Given the description of an element on the screen output the (x, y) to click on. 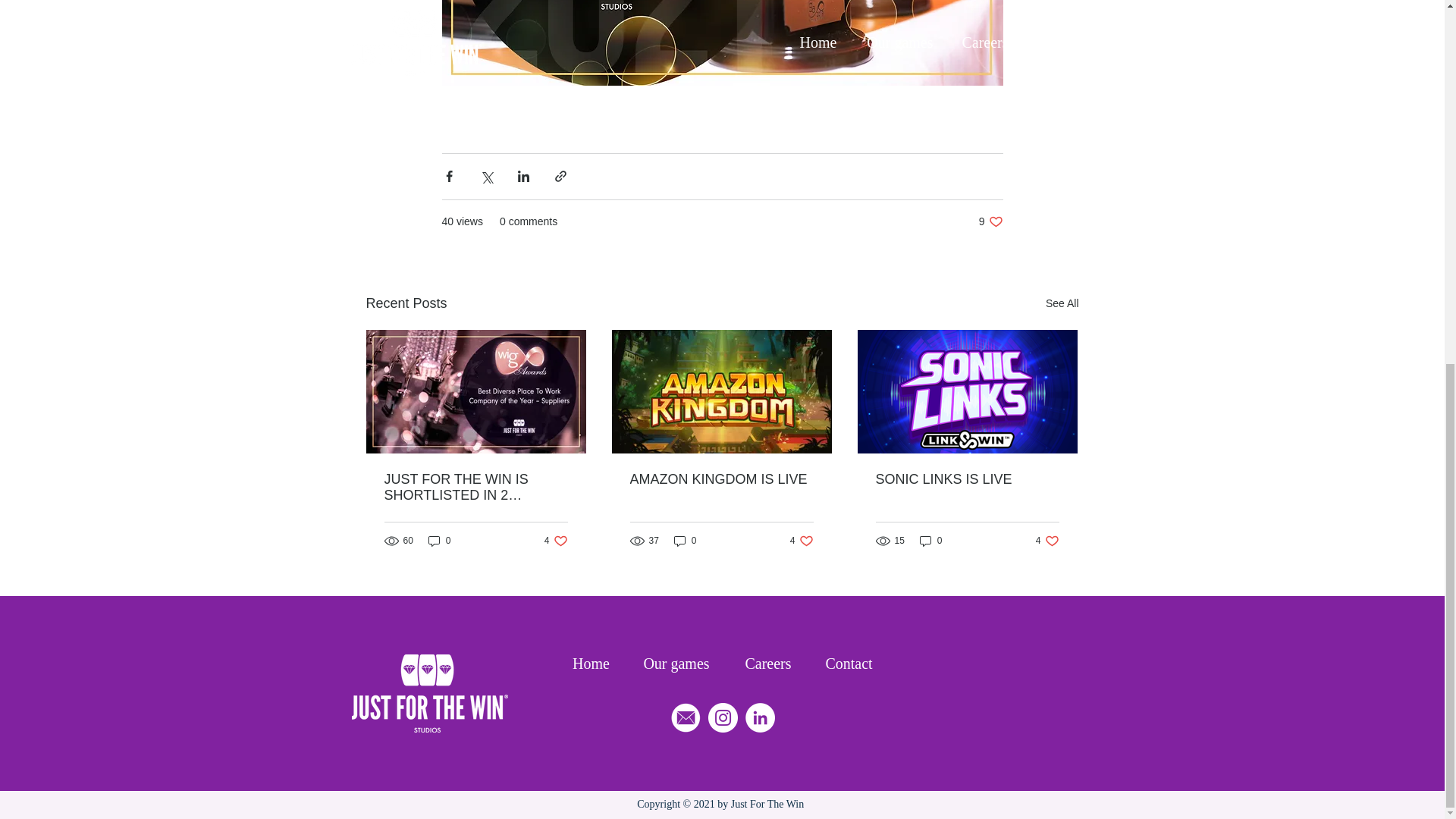
SONIC LINKS IS LIVE (1047, 540)
See All (966, 479)
Careers (1061, 303)
Contact (768, 663)
0 (848, 663)
0 (930, 540)
Our games (685, 540)
